Given the description of an element on the screen output the (x, y) to click on. 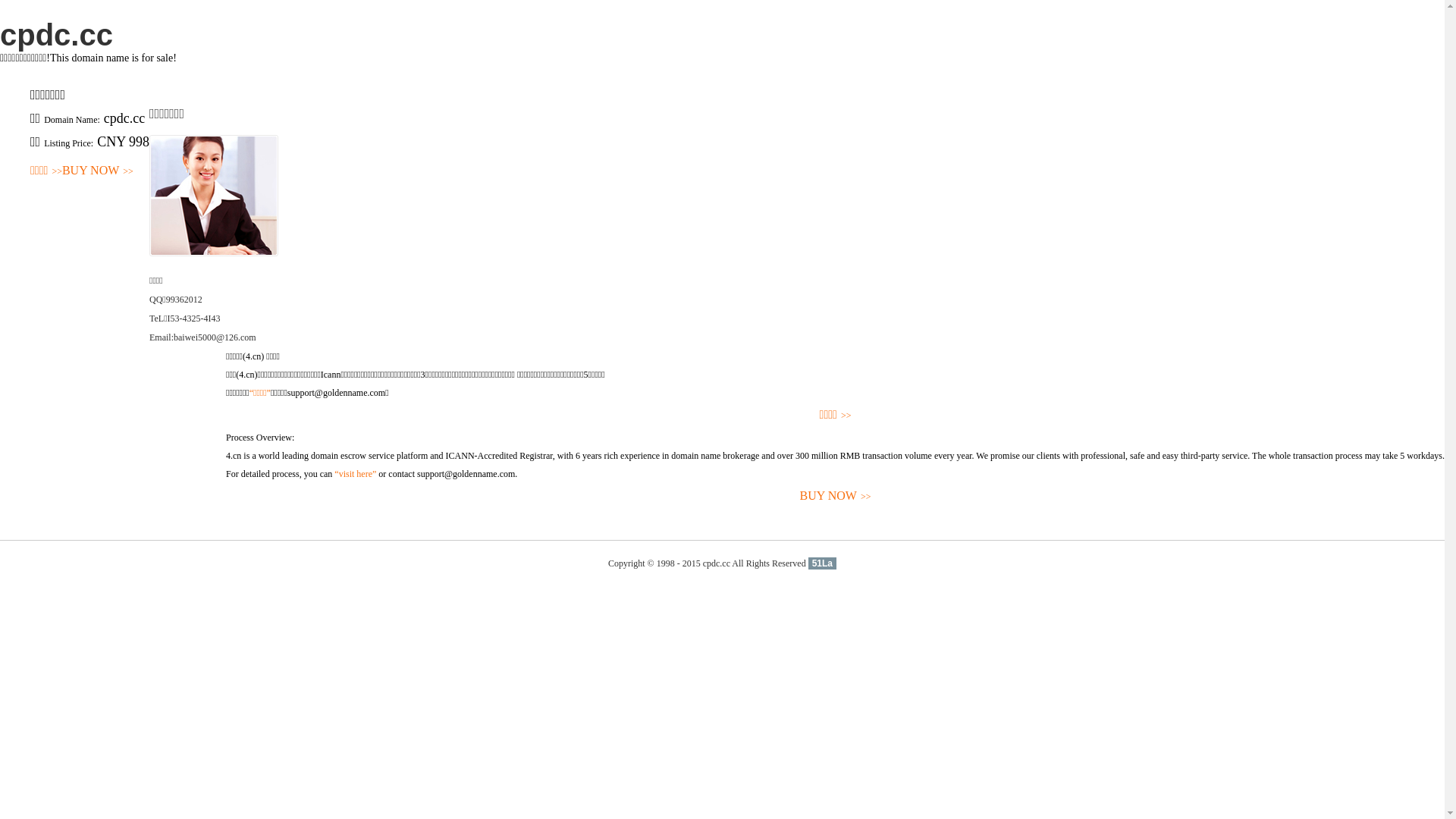
BUY NOW>> Element type: text (97, 170)
51La Element type: text (822, 563)
BUY NOW>> Element type: text (834, 496)
